Given the description of an element on the screen output the (x, y) to click on. 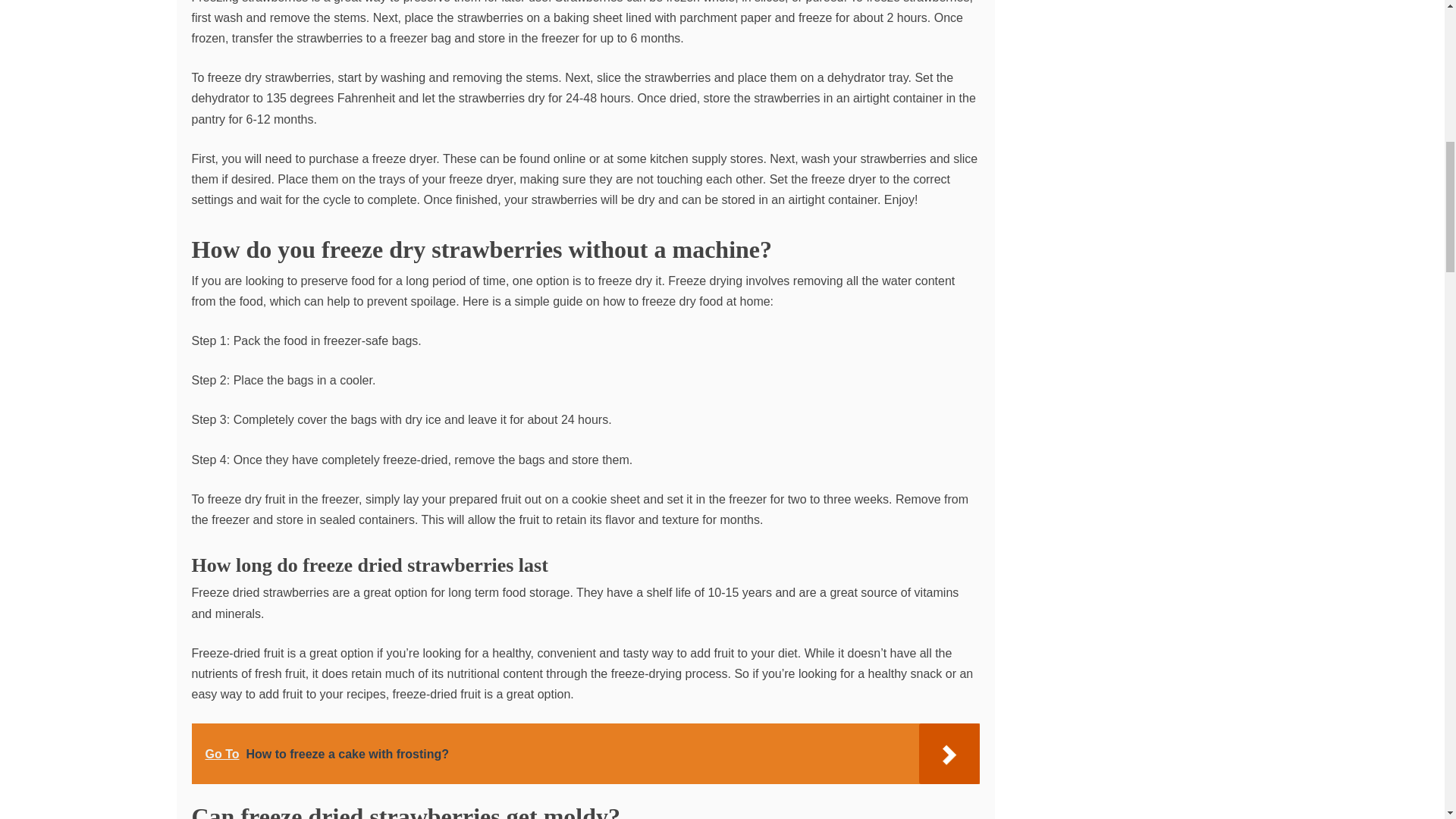
Go To  How to freeze a cake with frosting? (584, 753)
